Given the description of an element on the screen output the (x, y) to click on. 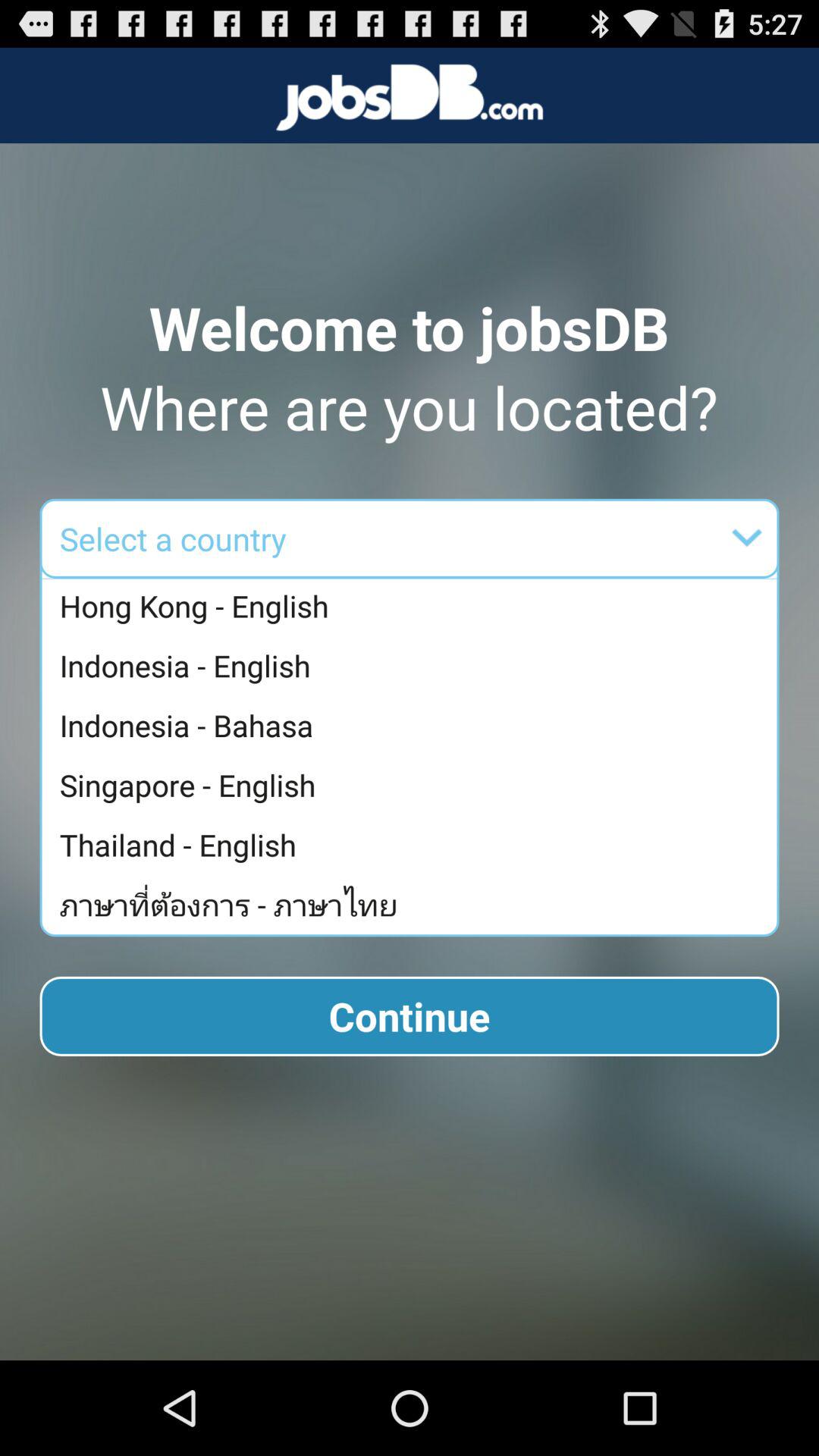
scroll until the thailand - english app (413, 844)
